Given the description of an element on the screen output the (x, y) to click on. 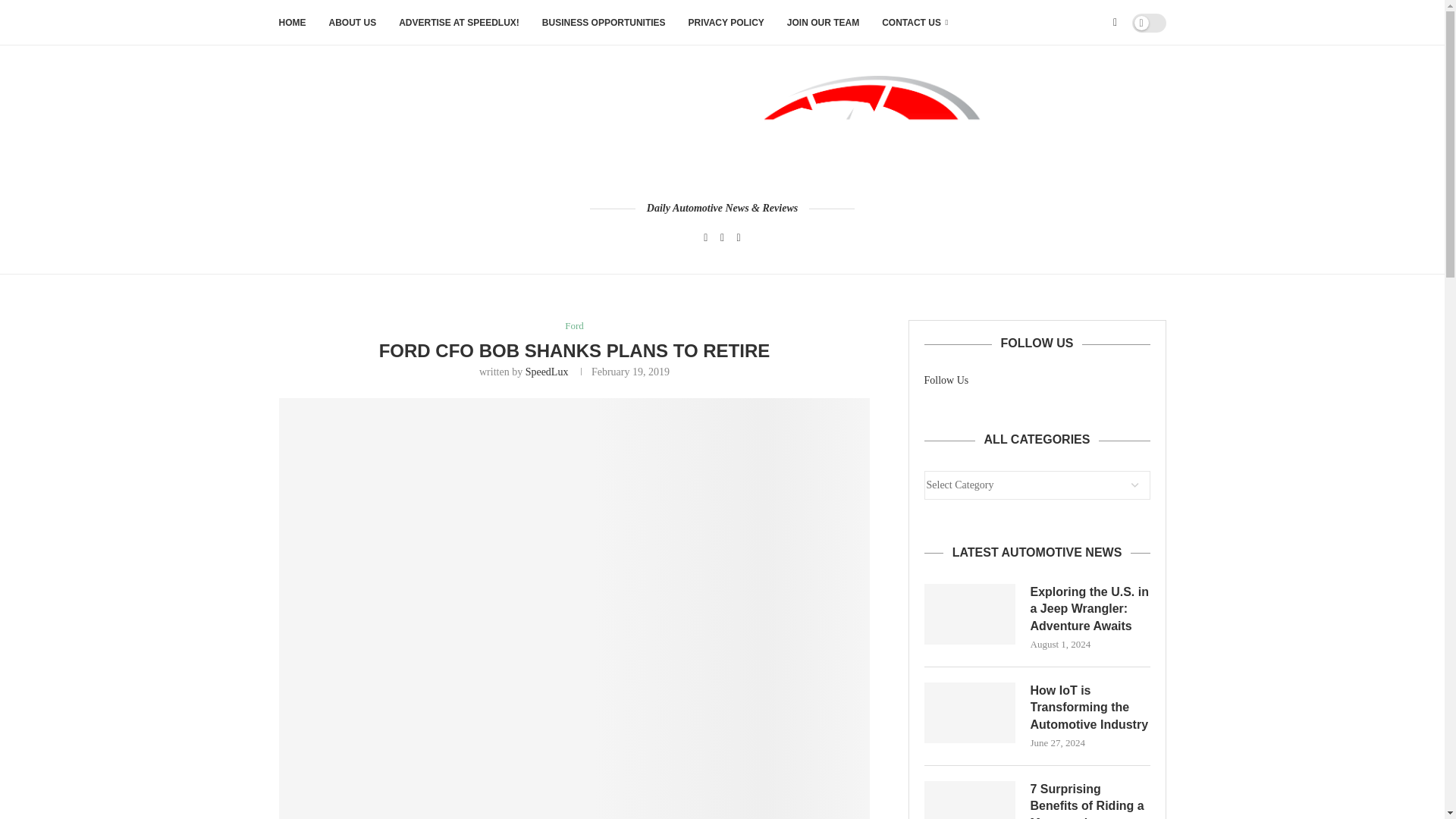
Ford (573, 326)
ADVERTISE AT SPEEDLUX! (458, 22)
PRIVACY POLICY (726, 22)
BUSINESS OPPORTUNITIES (603, 22)
CONTACT US (915, 22)
SpeedLux (547, 371)
ABOUT US (353, 22)
JOIN OUR TEAM (823, 22)
